Given the description of an element on the screen output the (x, y) to click on. 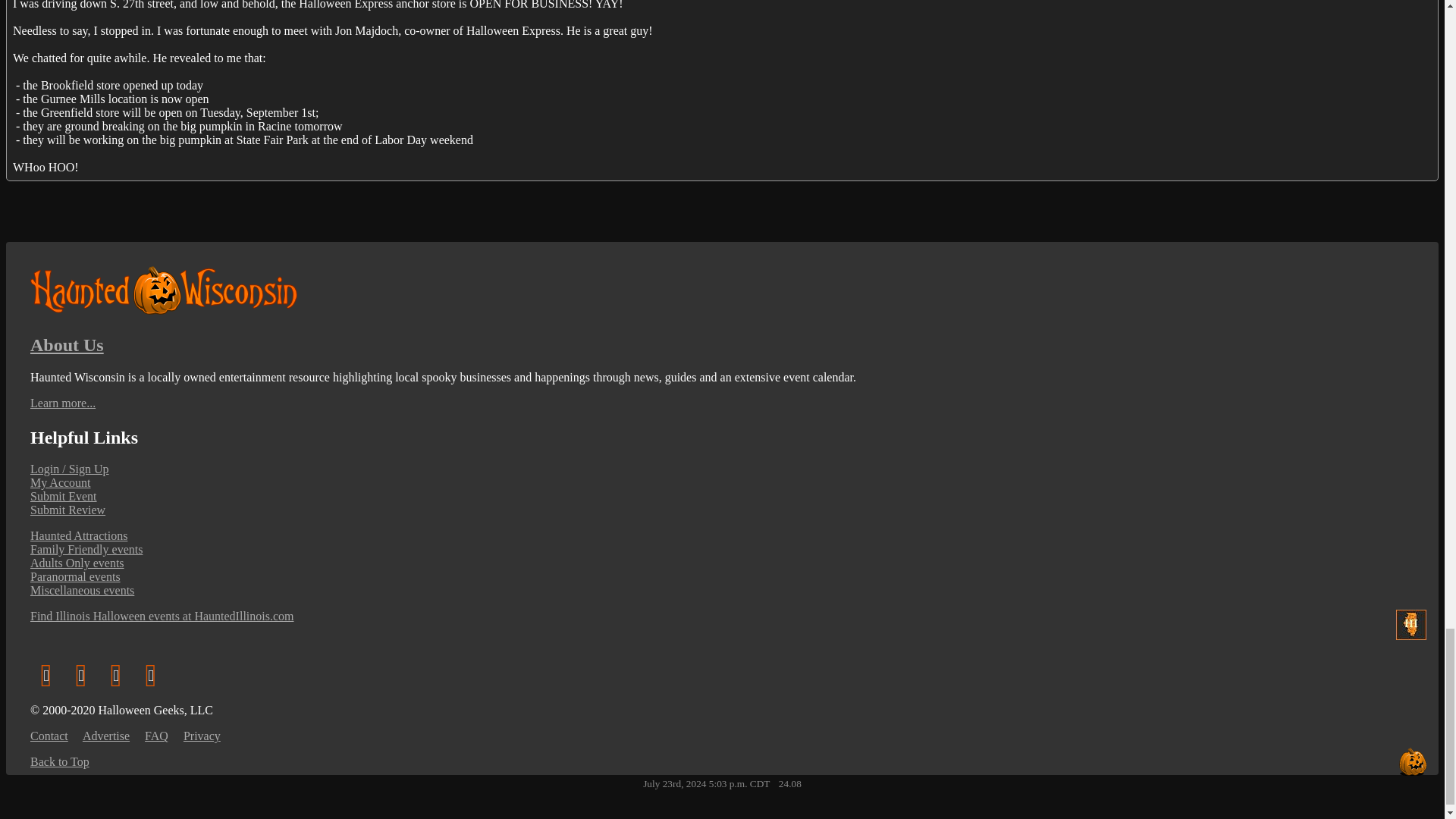
Newsletter (46, 674)
Instagram (116, 674)
Facebook (81, 674)
YouTube (151, 674)
